Given the description of an element on the screen output the (x, y) to click on. 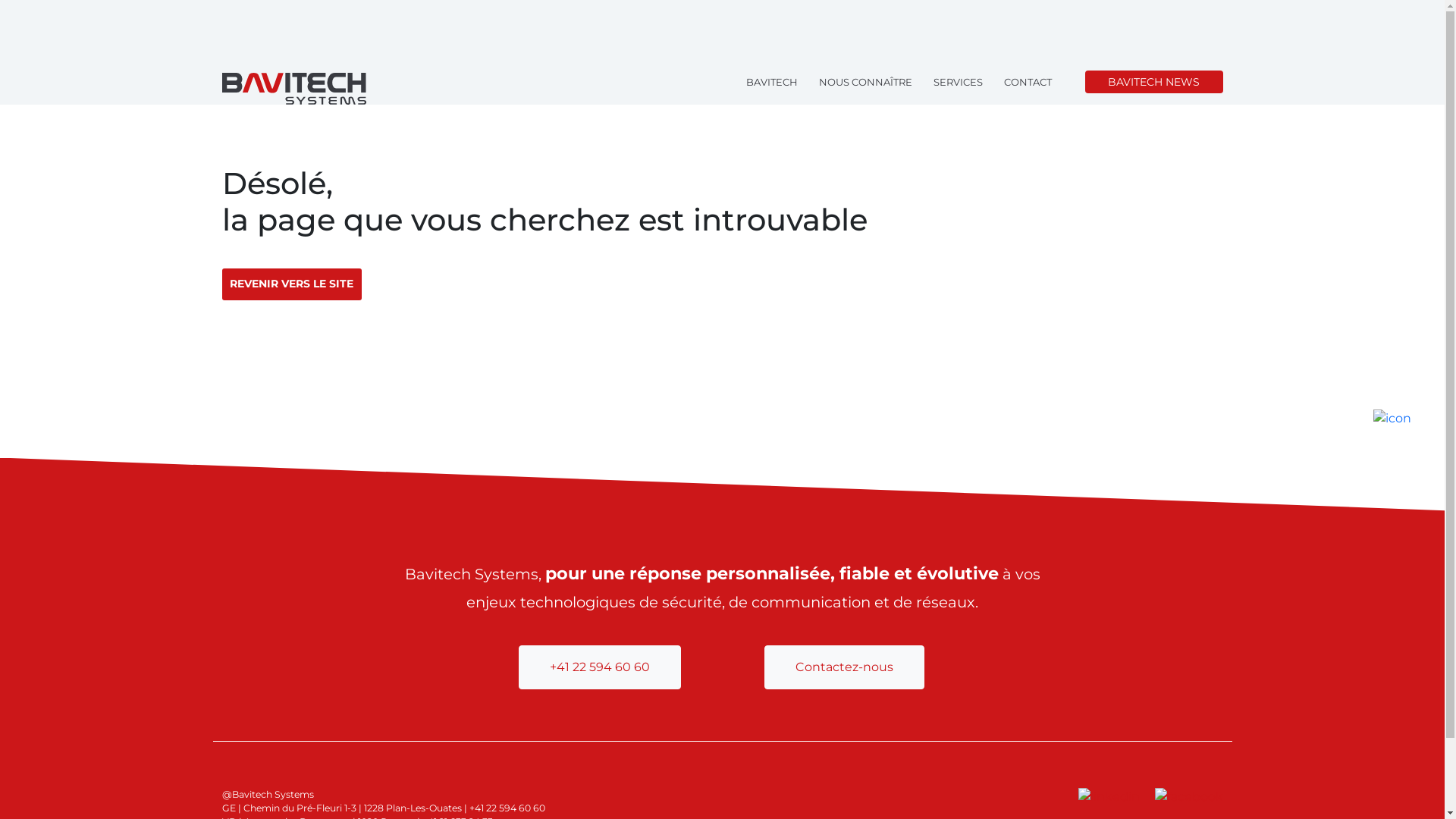
Contactez-nous Element type: text (844, 667)
REVENIR VERS LE SITE Element type: text (290, 284)
Contactez-nous Element type: text (844, 665)
BAVITECH Element type: text (782, 81)
Partager sur LinkedIn Element type: hover (1110, 796)
Partager sur Facebook Element type: hover (1188, 796)
+41 22 594 60 60 Element type: text (599, 667)
CONTACT Element type: text (1038, 81)
+41 22 594 60 60 Element type: text (599, 665)
SERVICES Element type: text (968, 81)
BAVITECH NEWS Element type: text (1153, 82)
